Given the description of an element on the screen output the (x, y) to click on. 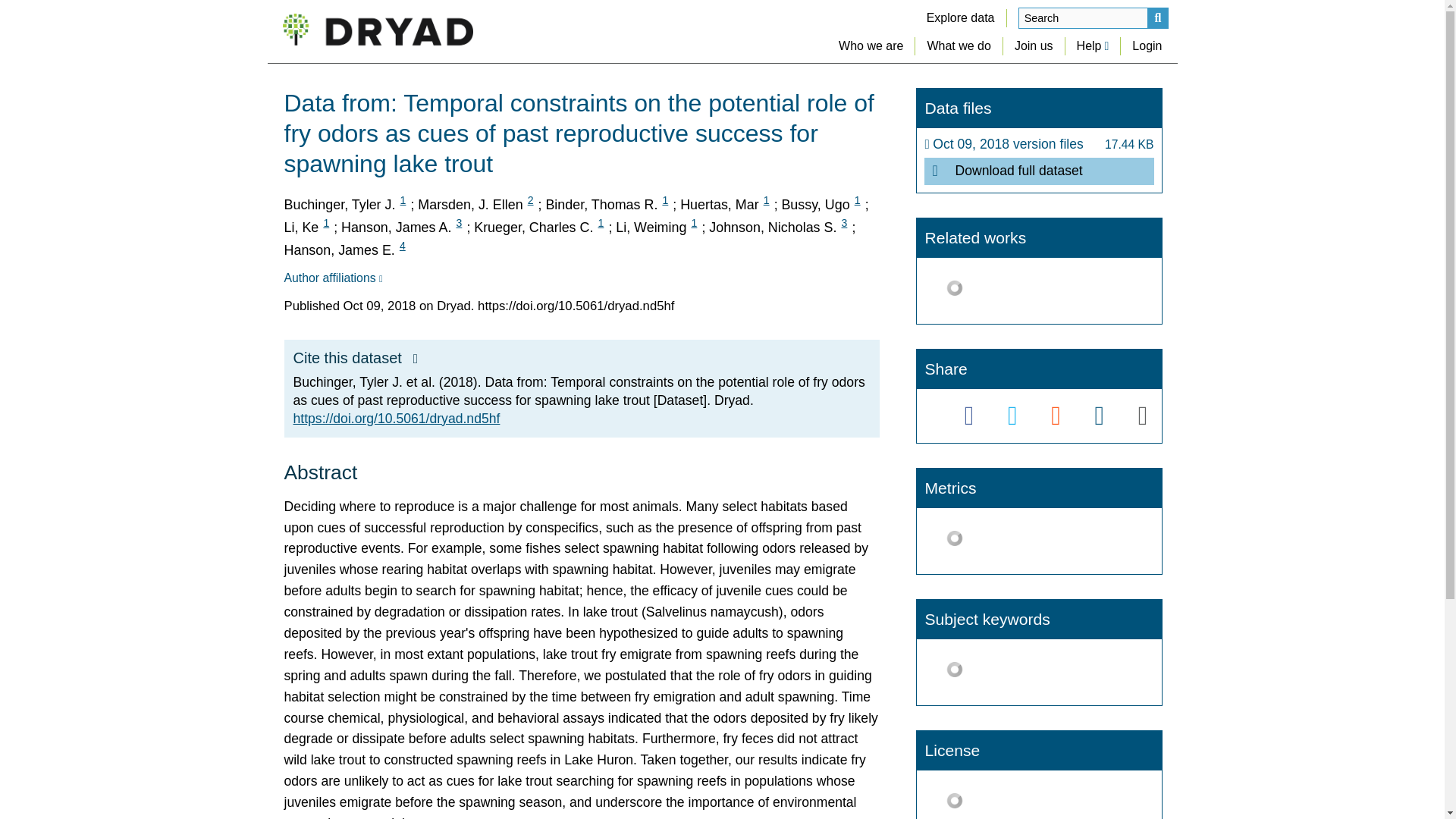
Who we are (870, 45)
Author affiliations (332, 278)
